Given the description of an element on the screen output the (x, y) to click on. 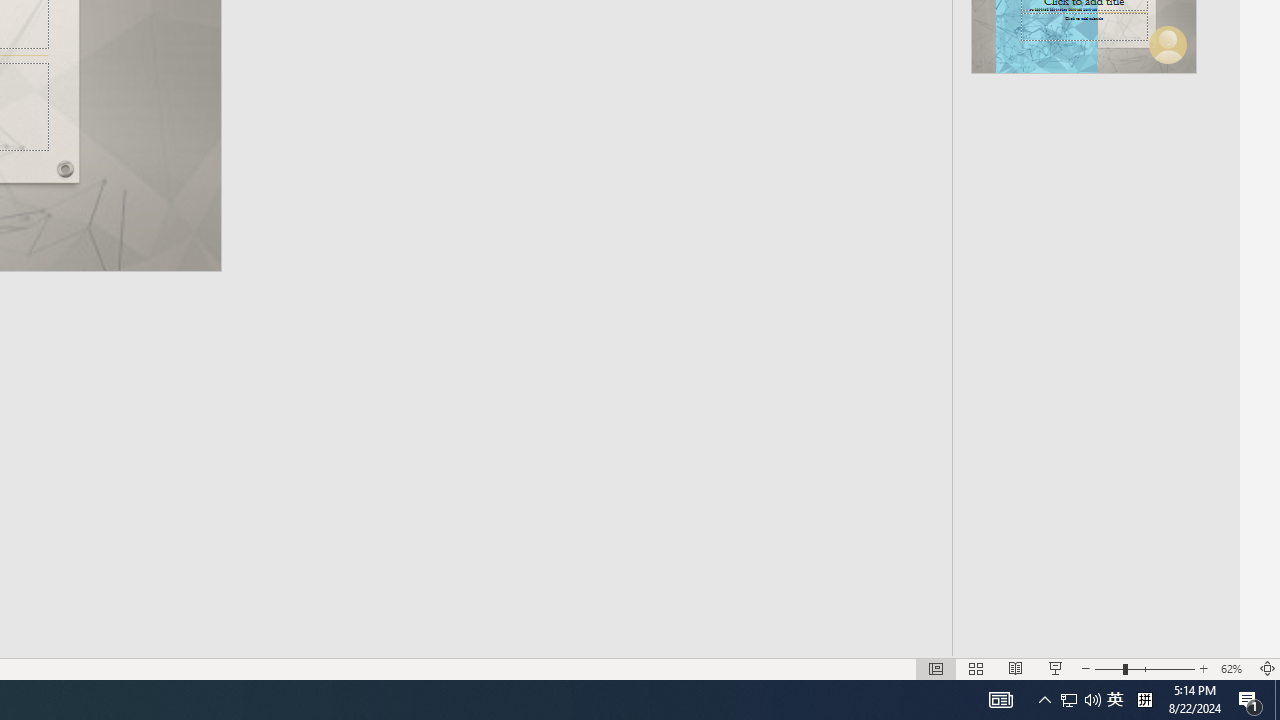
Zoom 62% (1234, 668)
